Given the description of an element on the screen output the (x, y) to click on. 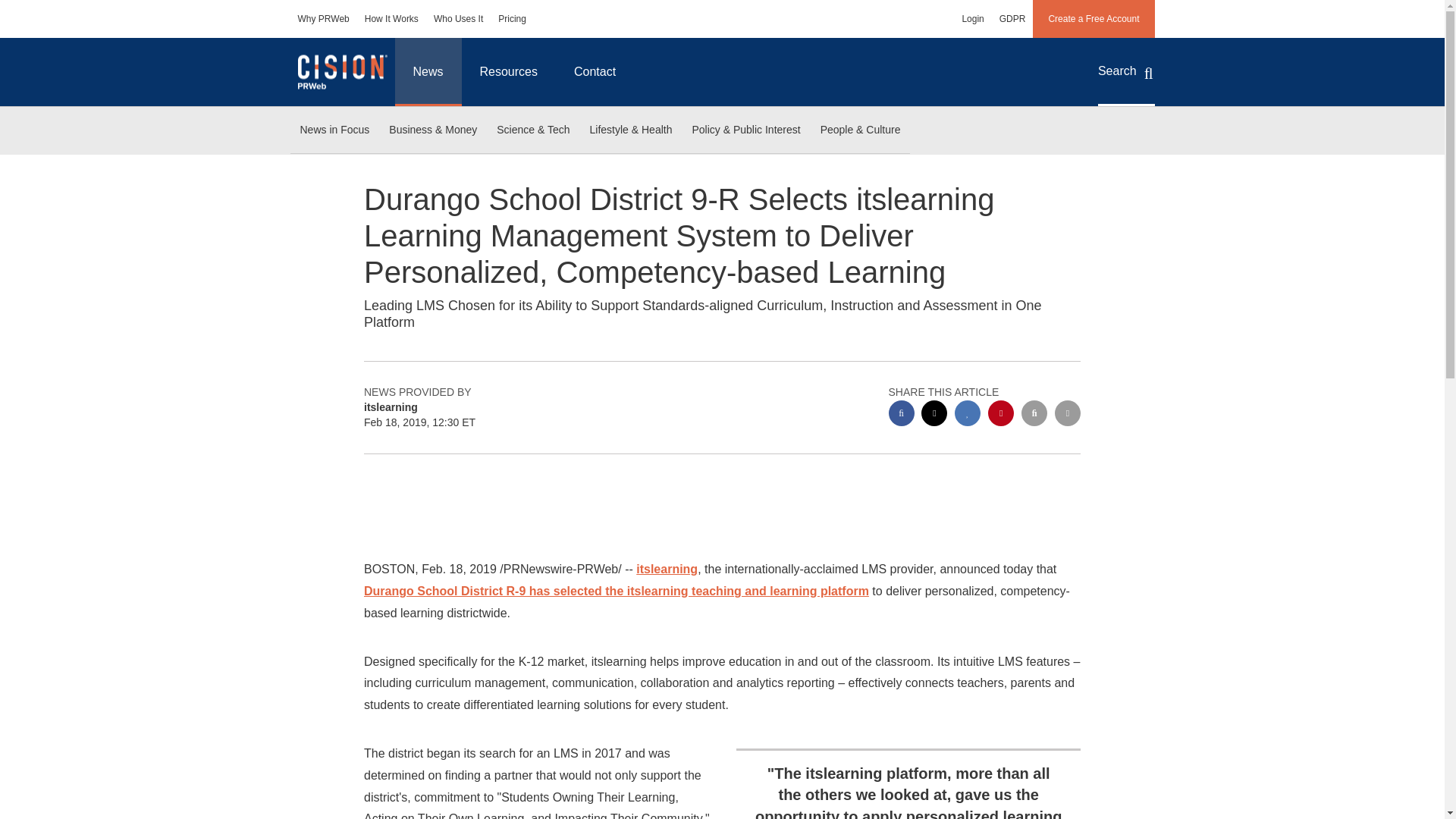
Create a Free Account (1093, 18)
News in Focus (333, 130)
Who Uses It (458, 18)
News (427, 71)
GDPR (1012, 18)
Pricing (512, 18)
Why PRWeb (322, 18)
Contact (594, 71)
How It Works (391, 18)
